Given the description of an element on the screen output the (x, y) to click on. 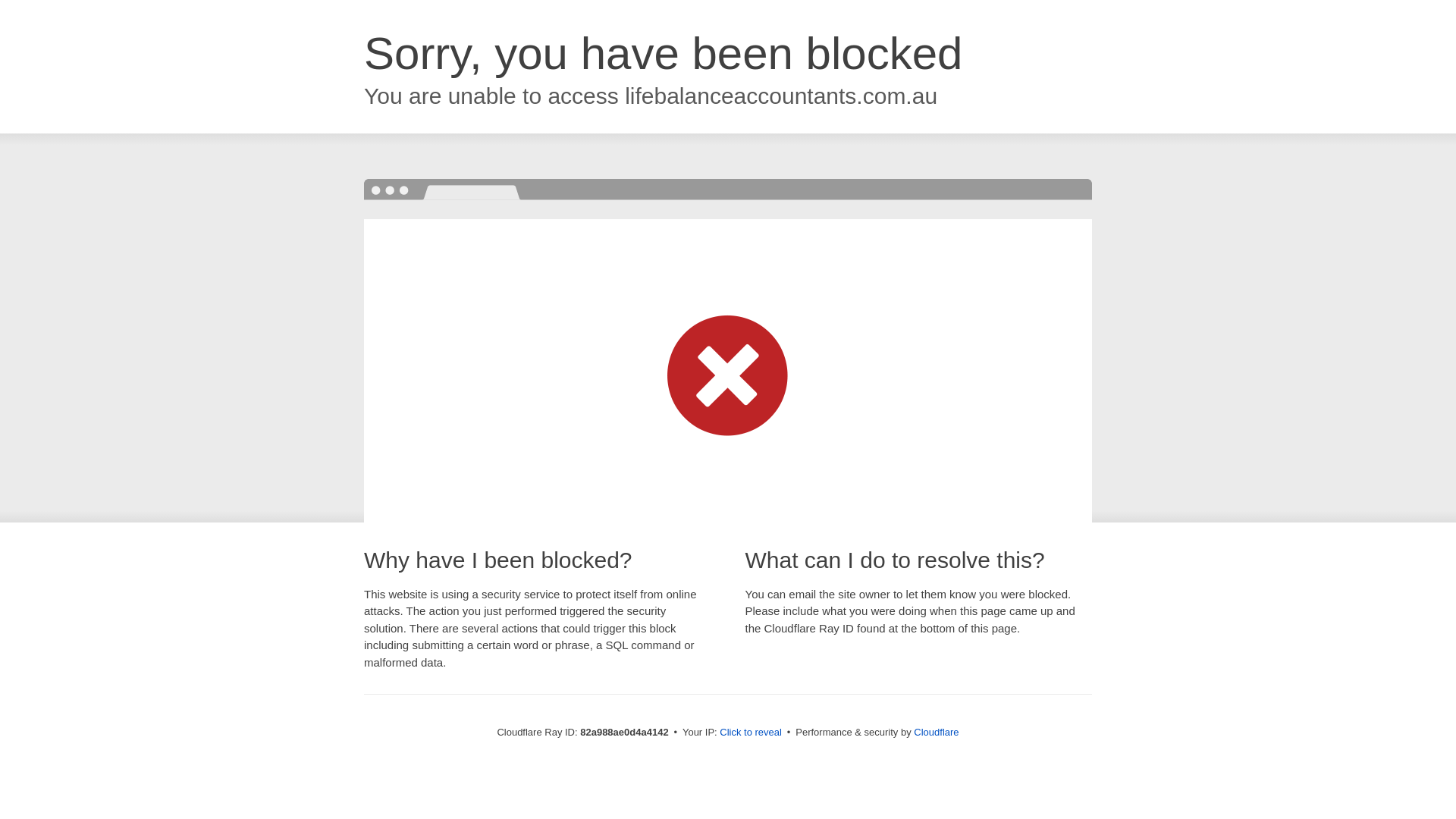
Cloudflare Element type: text (935, 731)
Click to reveal Element type: text (750, 732)
